Given the description of an element on the screen output the (x, y) to click on. 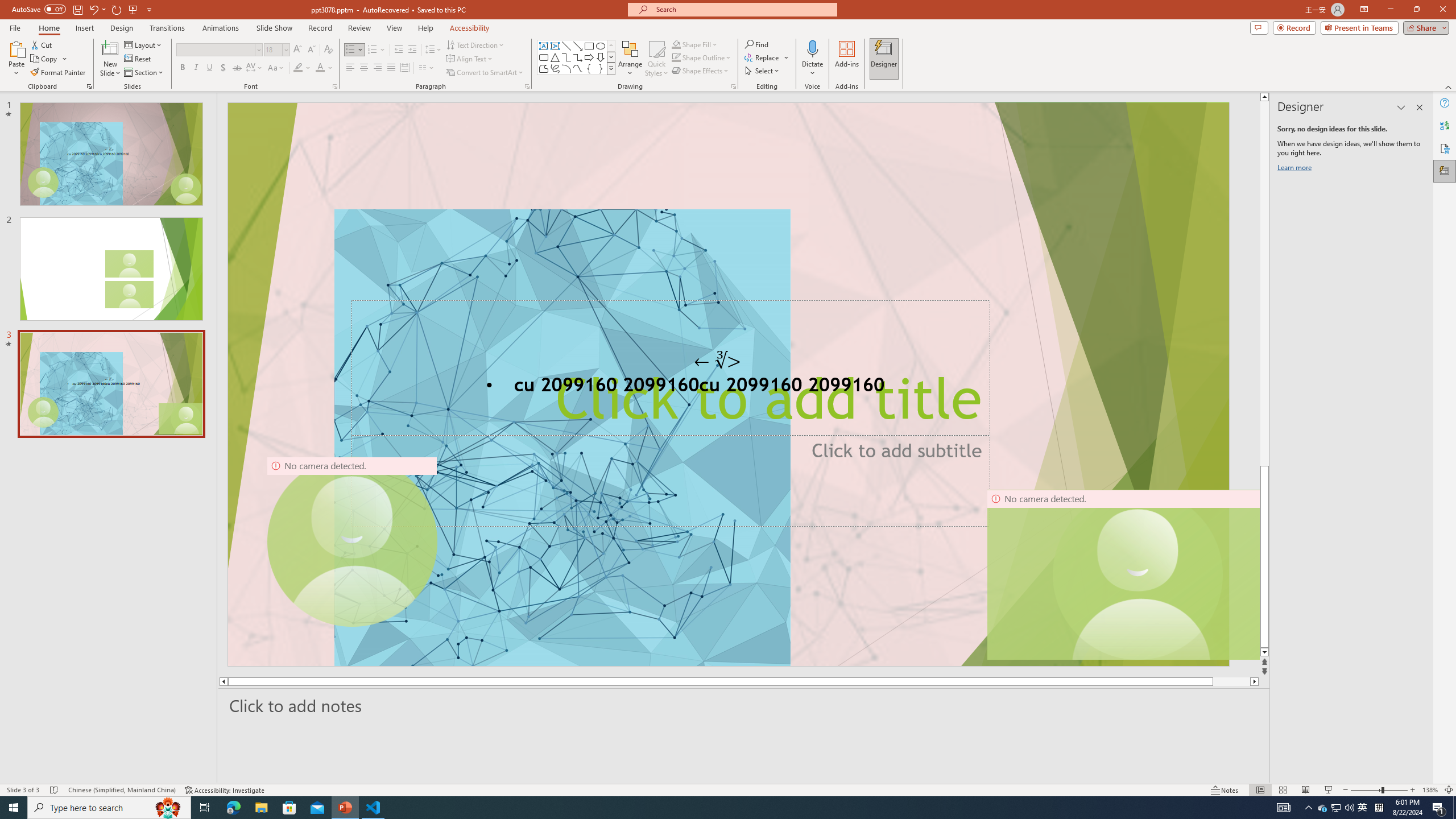
Camera 9, No camera detected. (352, 542)
